Given the description of an element on the screen output the (x, y) to click on. 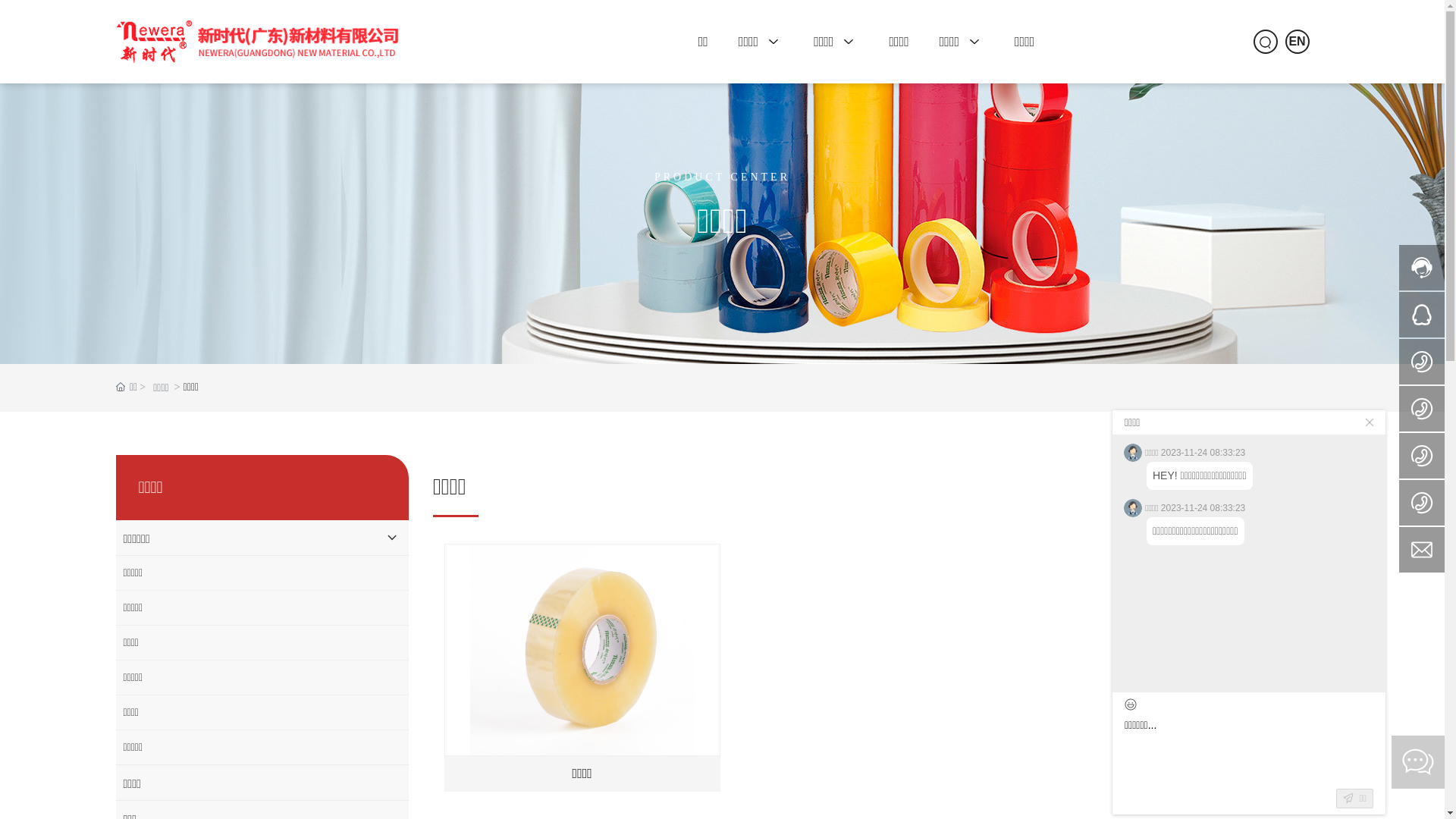
EN Element type: text (1296, 41)
